Given the description of an element on the screen output the (x, y) to click on. 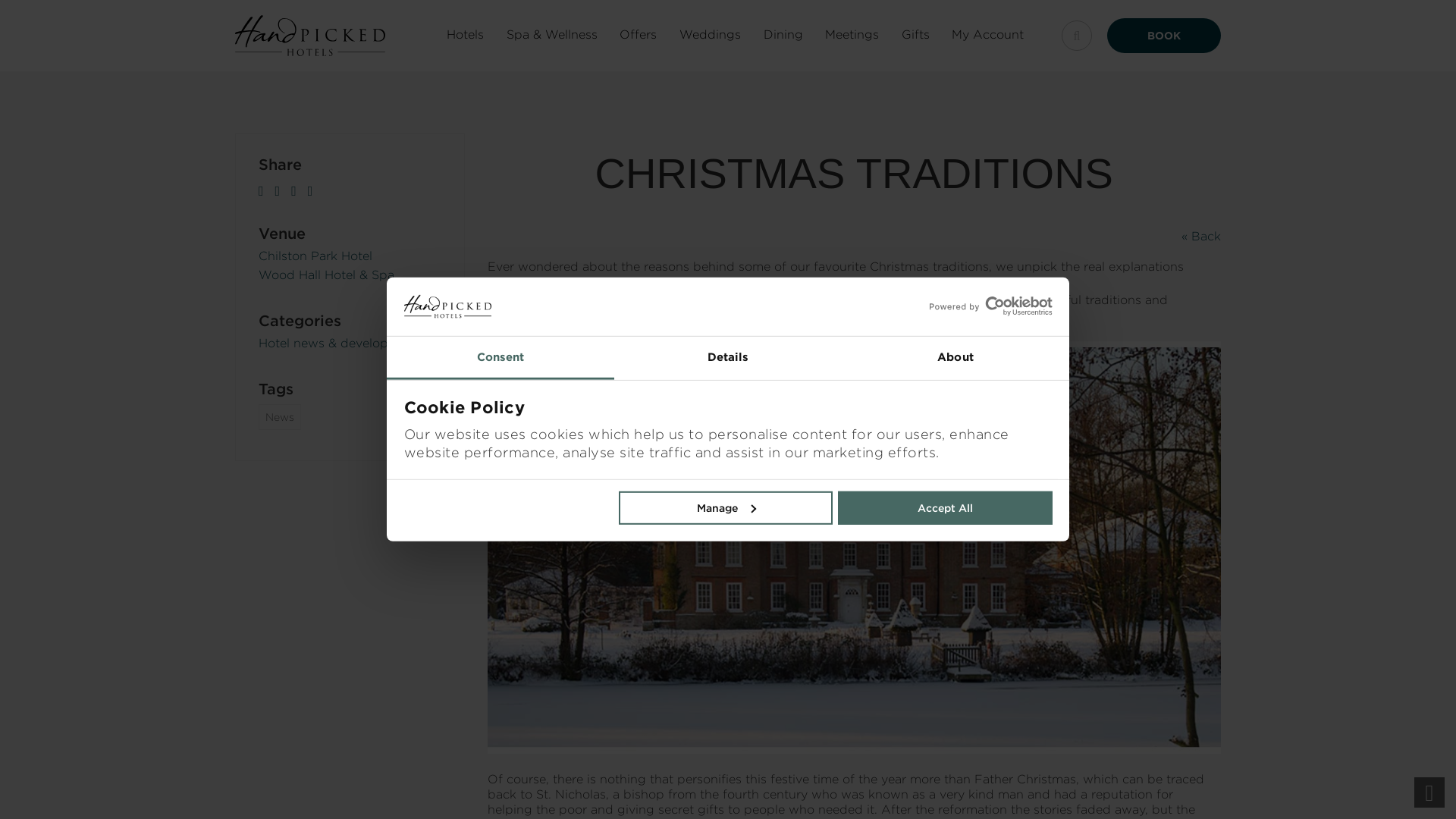
Consent (500, 358)
About (954, 358)
Details (727, 358)
